Given the description of an element on the screen output the (x, y) to click on. 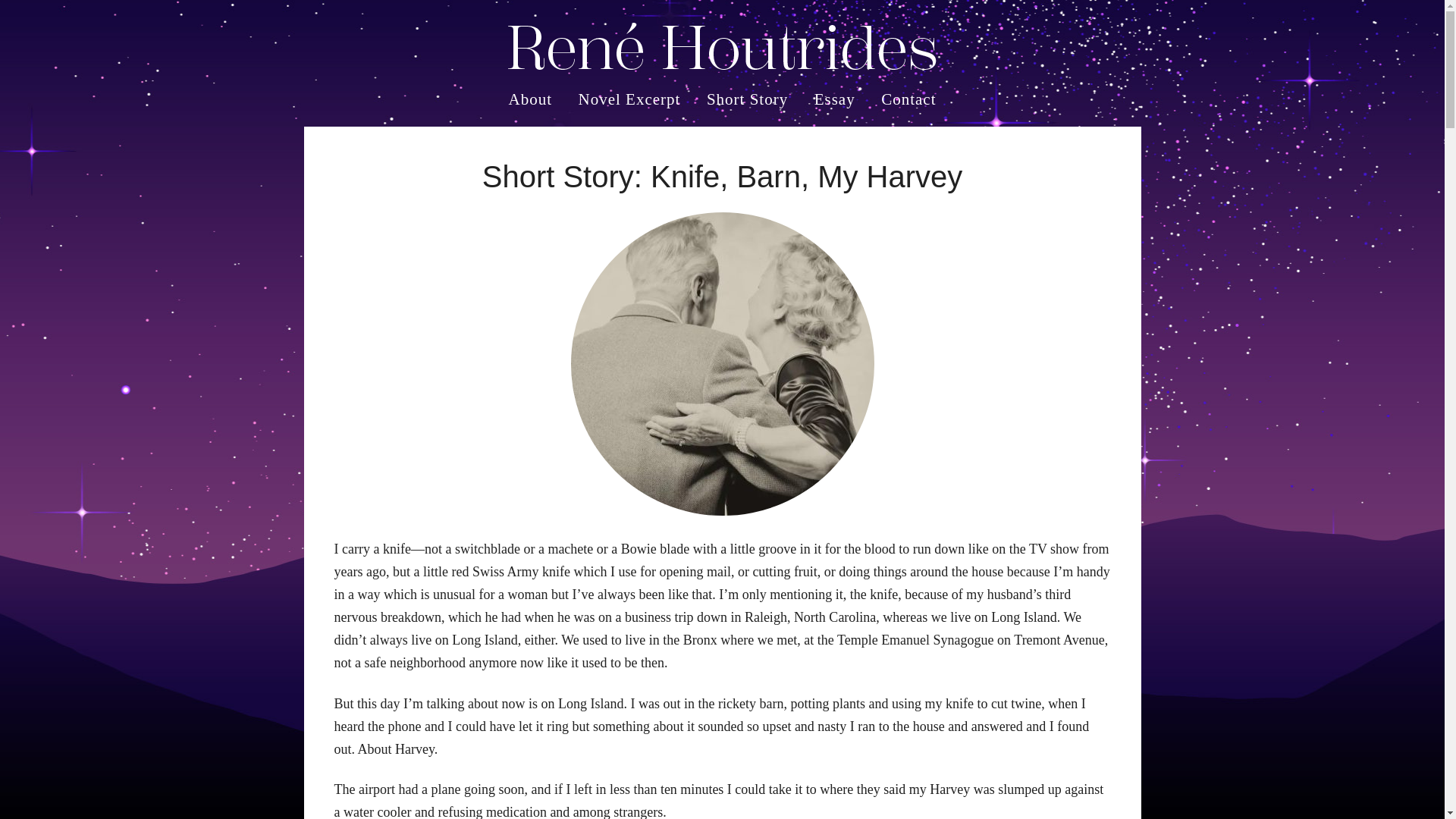
Essay (834, 99)
About (536, 99)
Novel Excerpt (630, 99)
Short Story (747, 99)
Contact (902, 99)
